Given the description of an element on the screen output the (x, y) to click on. 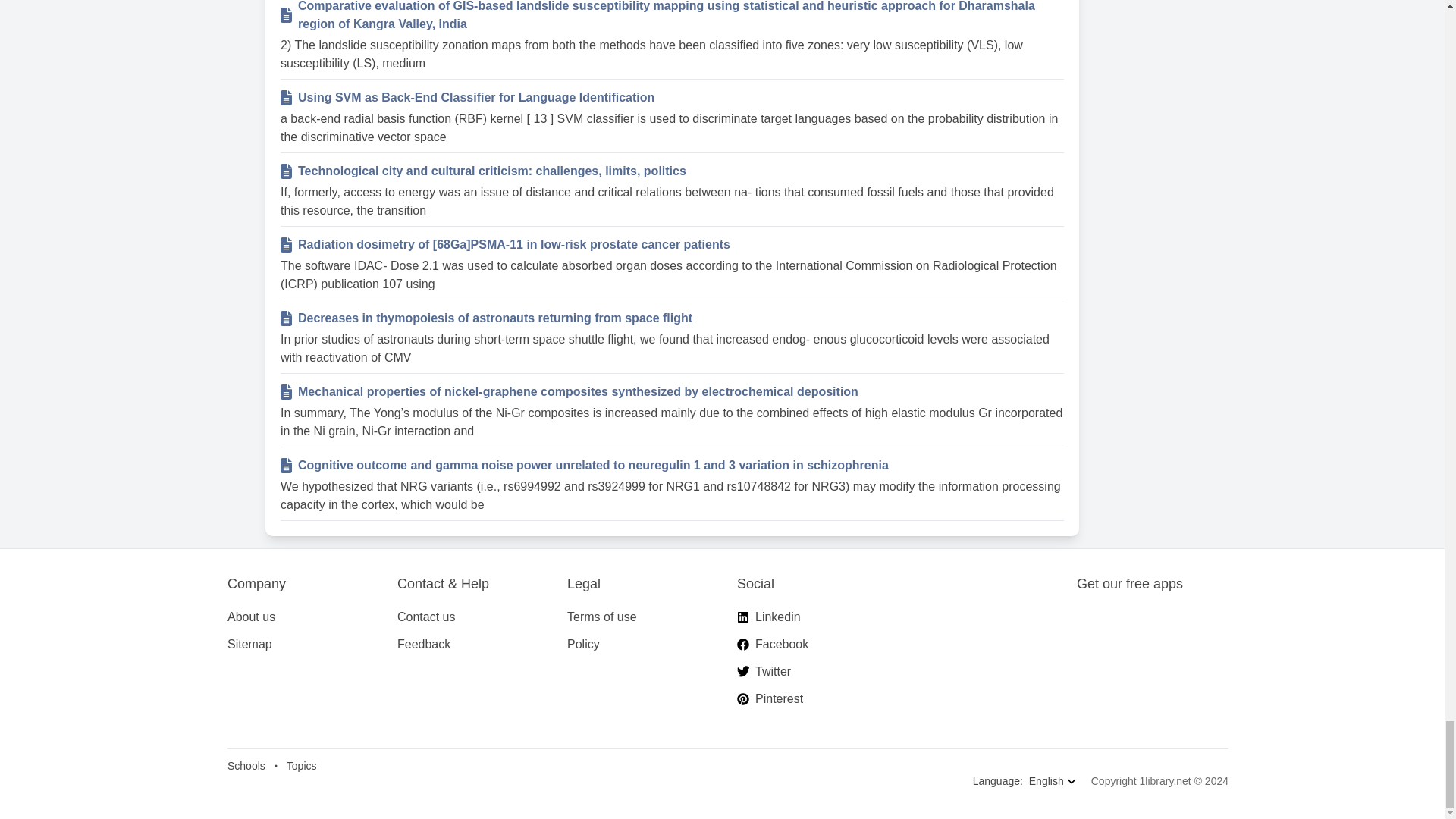
Using SVM as Back-End Classifier for Language Identification (681, 97)
